Given the description of an element on the screen output the (x, y) to click on. 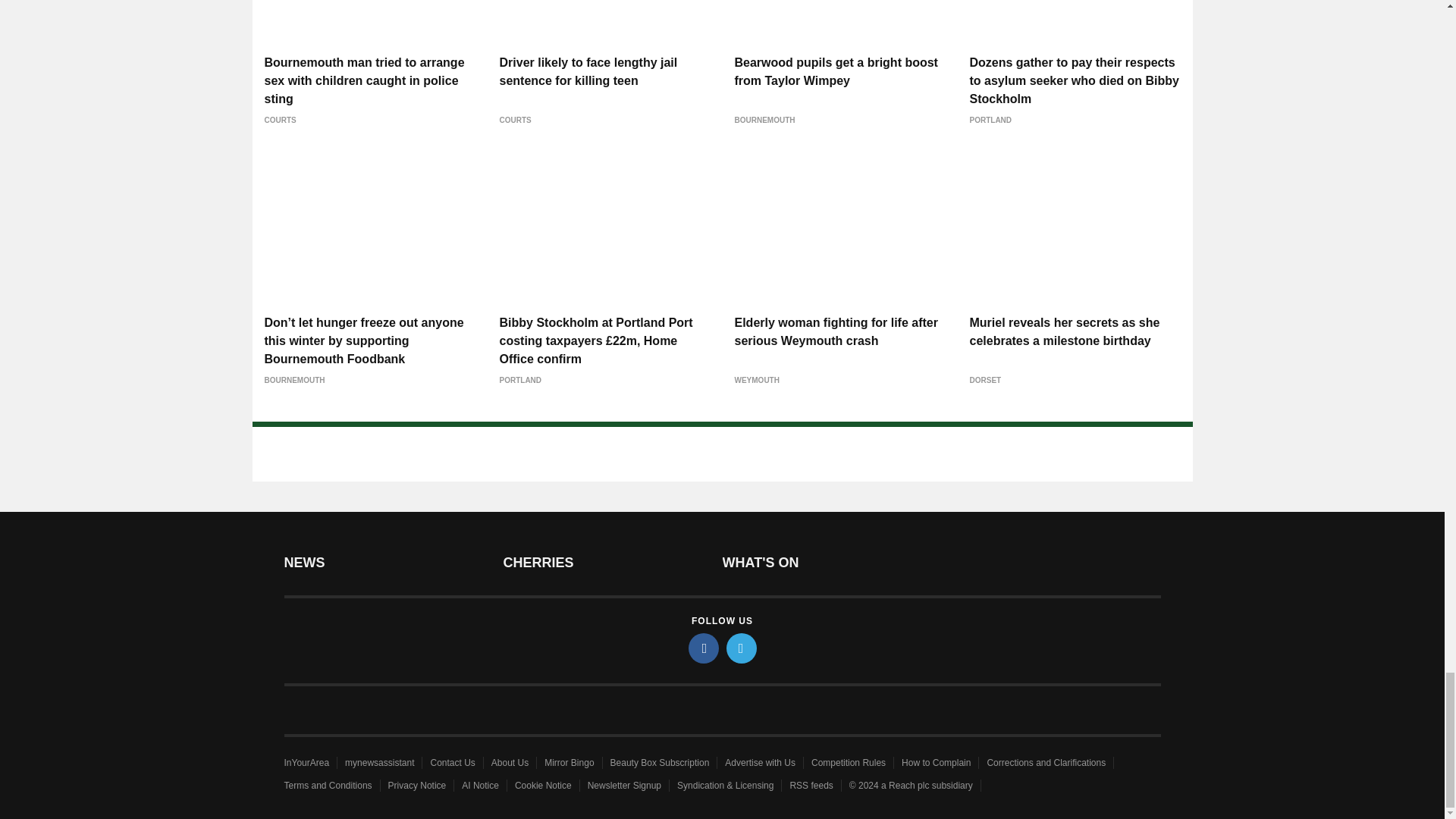
twitter (741, 648)
facebook (703, 648)
